Given the description of an element on the screen output the (x, y) to click on. 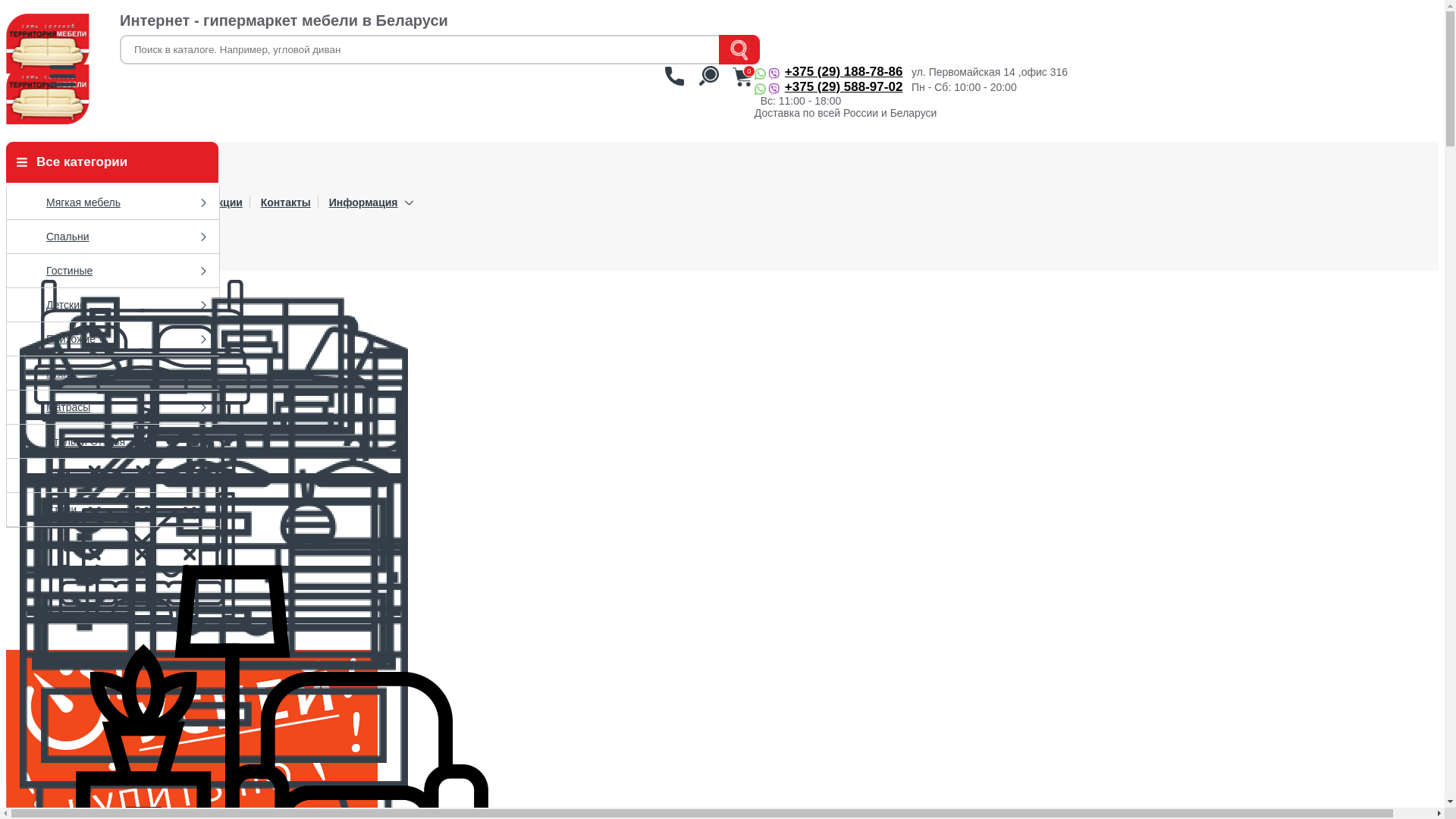
0 Element type: text (742, 75)
+375 (29) 588-97-02 Element type: text (828, 86)
+375 (29) 188-78-86 Element type: text (828, 71)
